Given the description of an element on the screen output the (x, y) to click on. 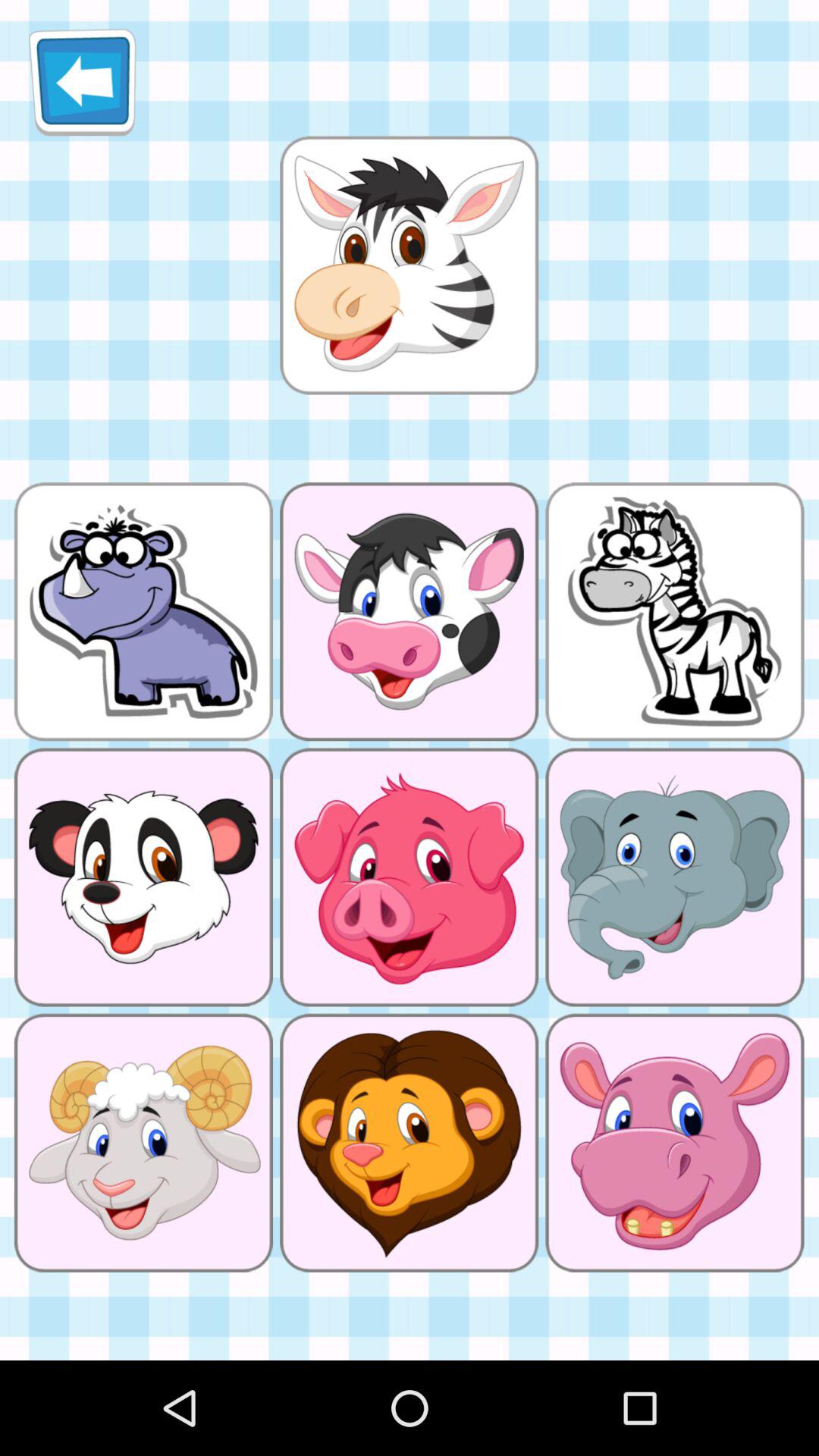
go back (82, 82)
